Given the description of an element on the screen output the (x, y) to click on. 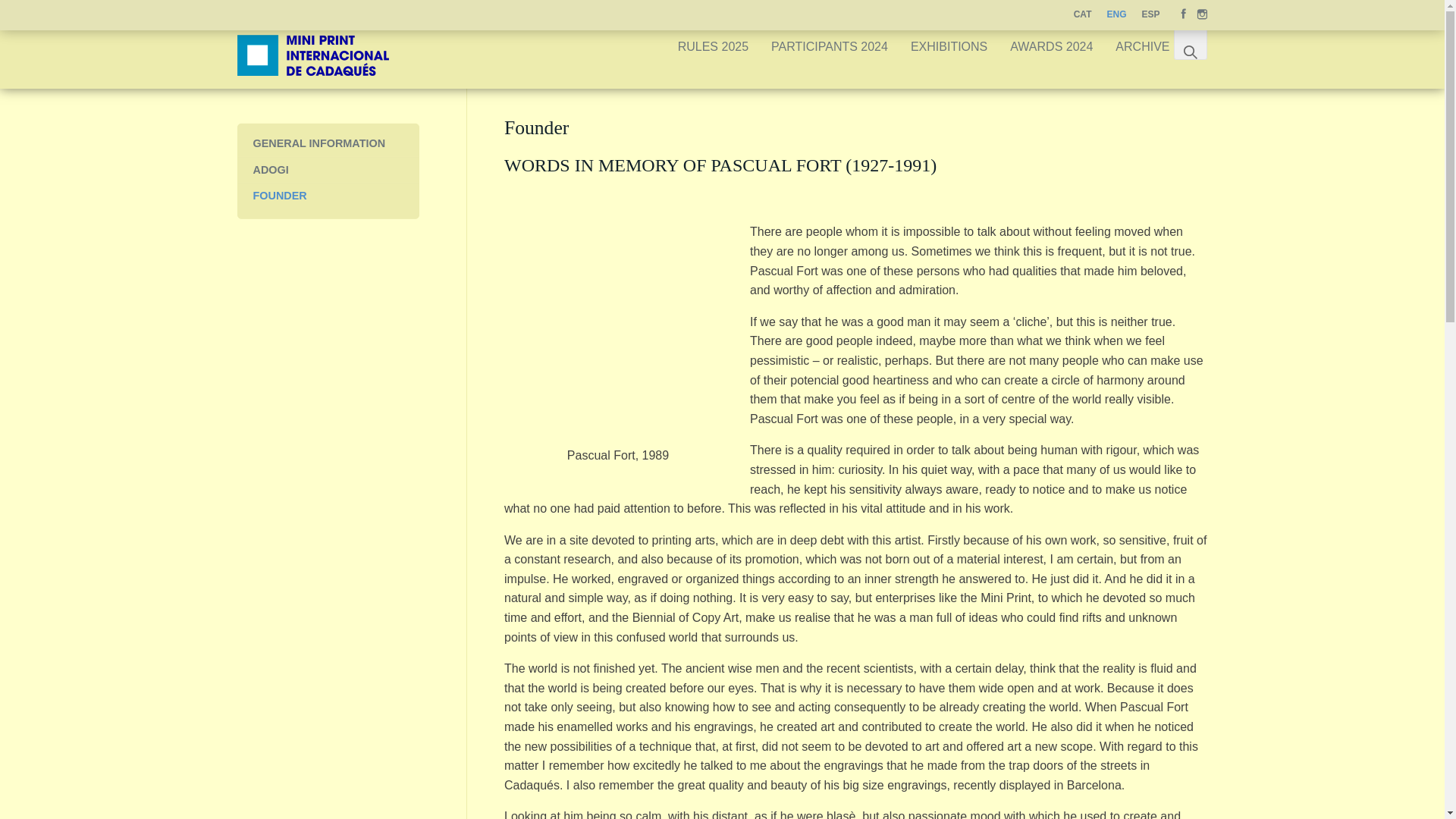
PARTICIPANTS 2024 (829, 46)
RULES 2025 (713, 46)
AWARDS 2024 (1051, 46)
ARCHIVE (1142, 46)
CAT (1082, 14)
ESP (1150, 14)
EXHIBITIONS (949, 46)
ENG (1116, 14)
